Given the description of an element on the screen output the (x, y) to click on. 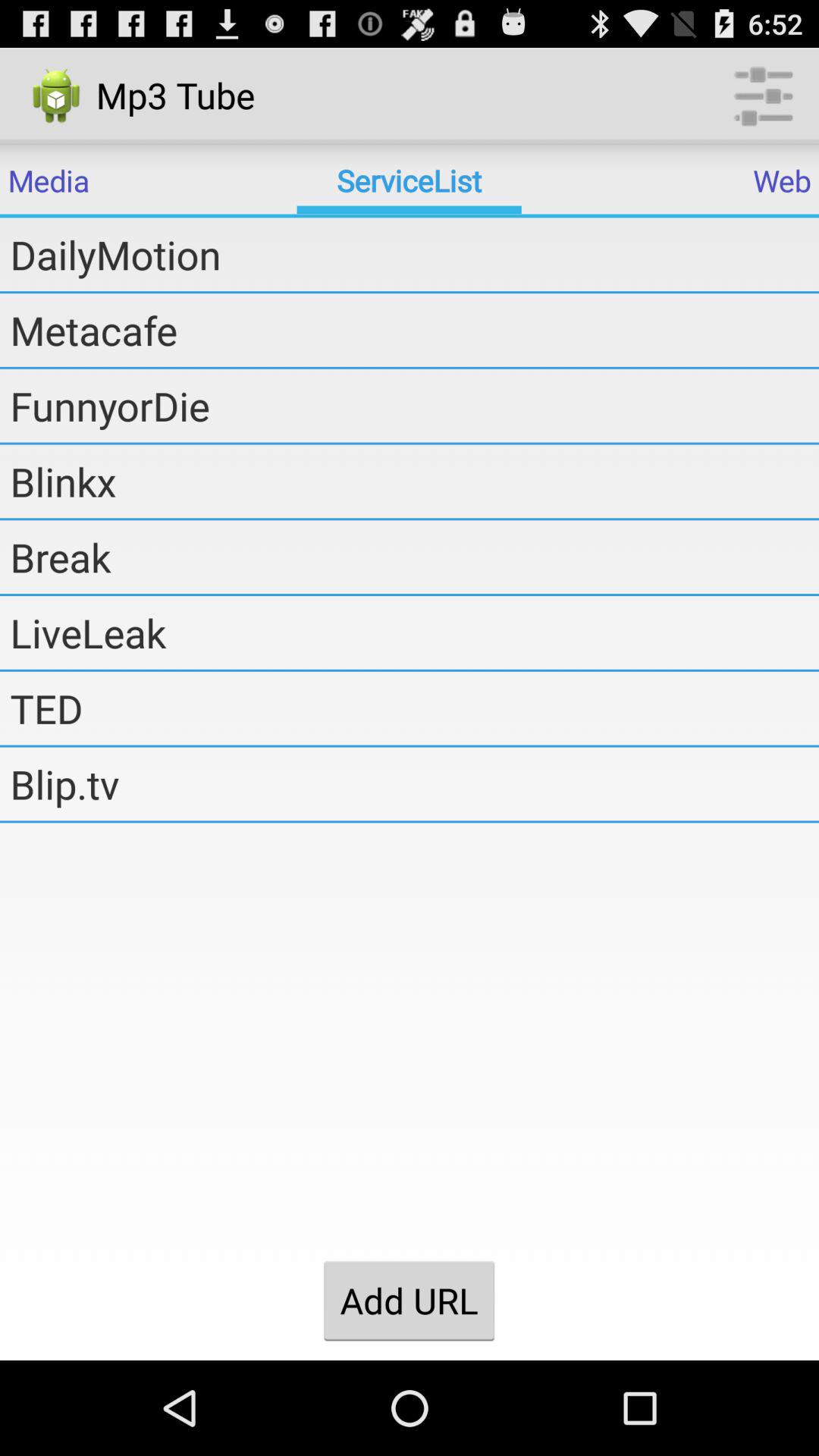
turn on the funnyordie (414, 405)
